Given the description of an element on the screen output the (x, y) to click on. 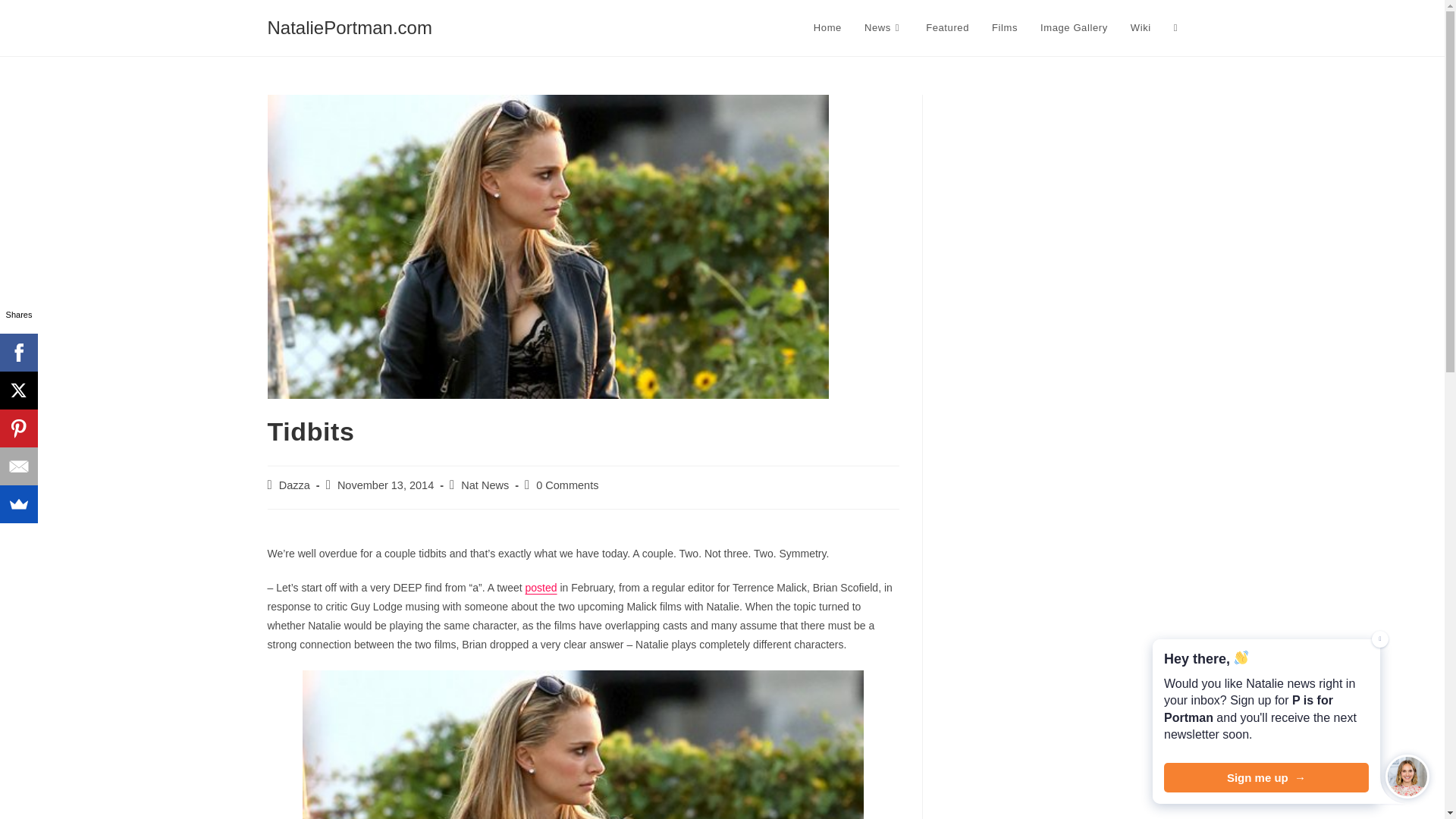
Image Gallery (1074, 28)
Dazza (294, 485)
Nat News (484, 485)
posted (541, 587)
SumoMe (18, 504)
Home (827, 28)
X (18, 390)
Pinterest (18, 428)
Facebook (18, 352)
Email (18, 466)
Posts by Dazza (294, 485)
0 Comments (566, 485)
News (883, 28)
NataliePortman.com (348, 27)
Featured (946, 28)
